Given the description of an element on the screen output the (x, y) to click on. 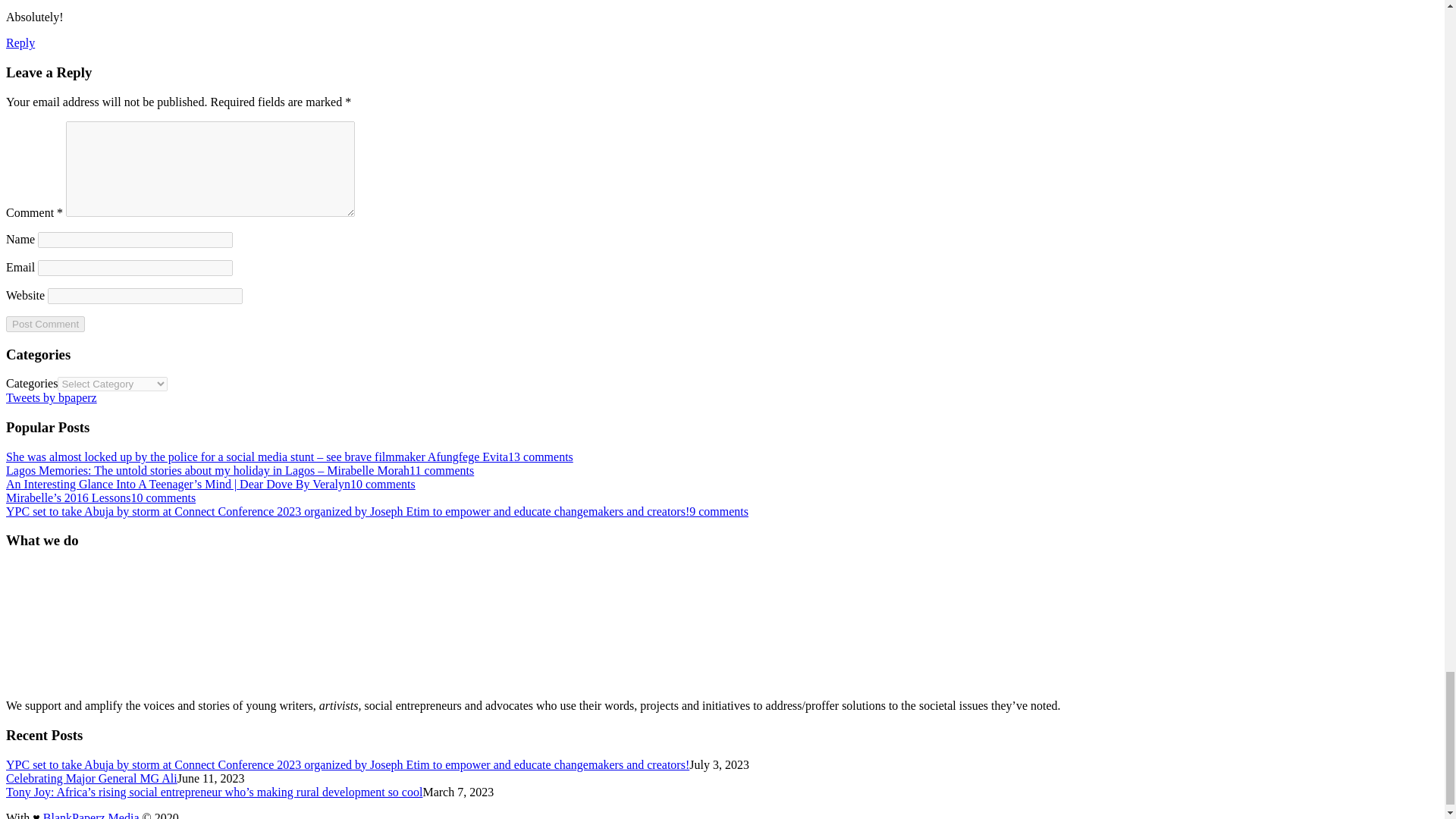
Reply (19, 42)
10 comments (382, 483)
Post Comment (44, 324)
13 comments (540, 456)
11 comments (441, 470)
Post Comment (44, 324)
10 comments (163, 497)
13 comments (540, 456)
Tweets by bpaperz (51, 397)
11 comments (441, 470)
